Given the description of an element on the screen output the (x, y) to click on. 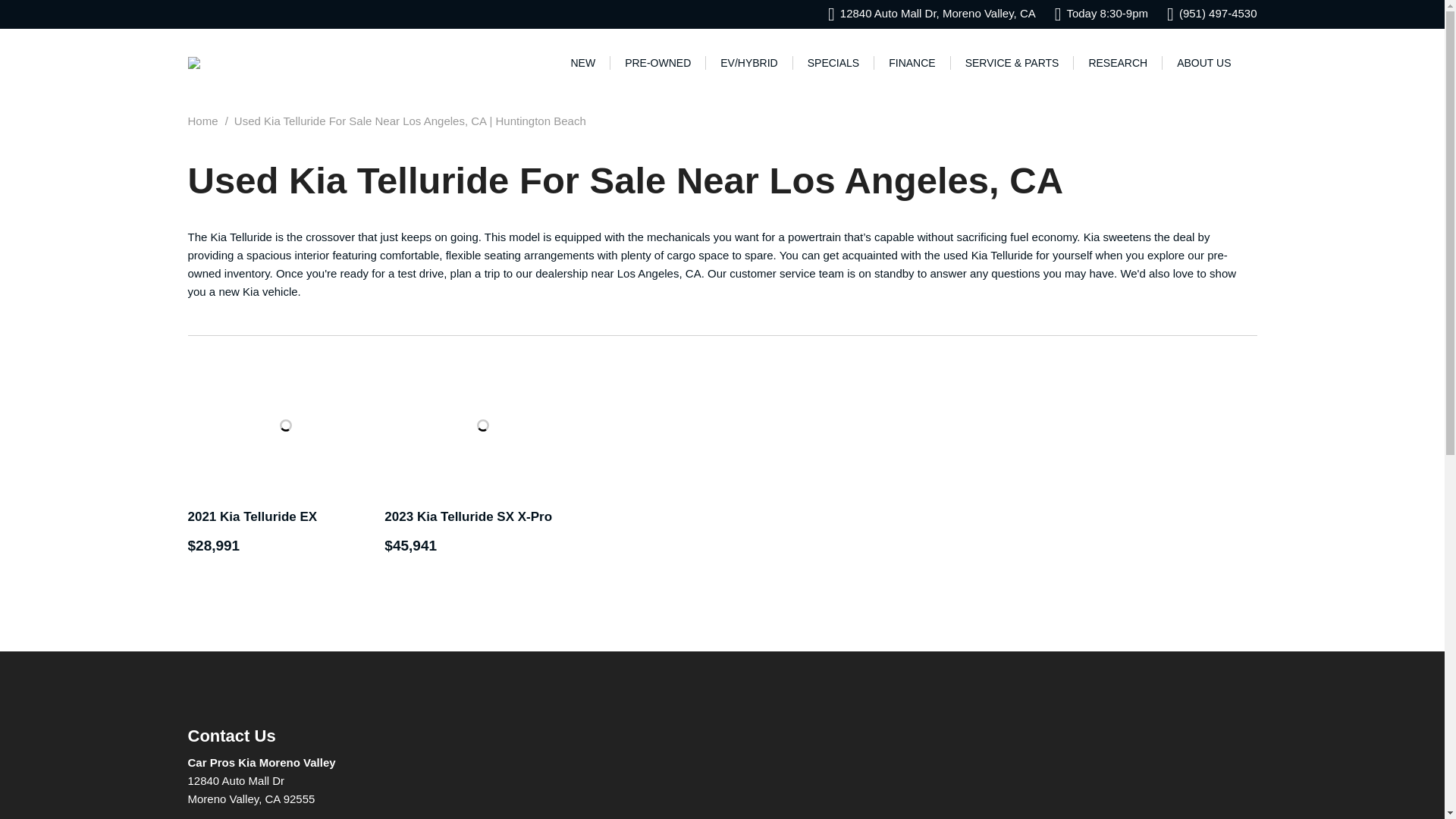
NEW (582, 62)
SPECIALS (833, 62)
PRE-OWNED (658, 62)
Today 8:30-9pm (1101, 14)
Car Pros Kia Moreno Valley (193, 62)
12840 Auto Mall Dr, Moreno Valley, CA (931, 14)
FINANCE (911, 62)
